Given the description of an element on the screen output the (x, y) to click on. 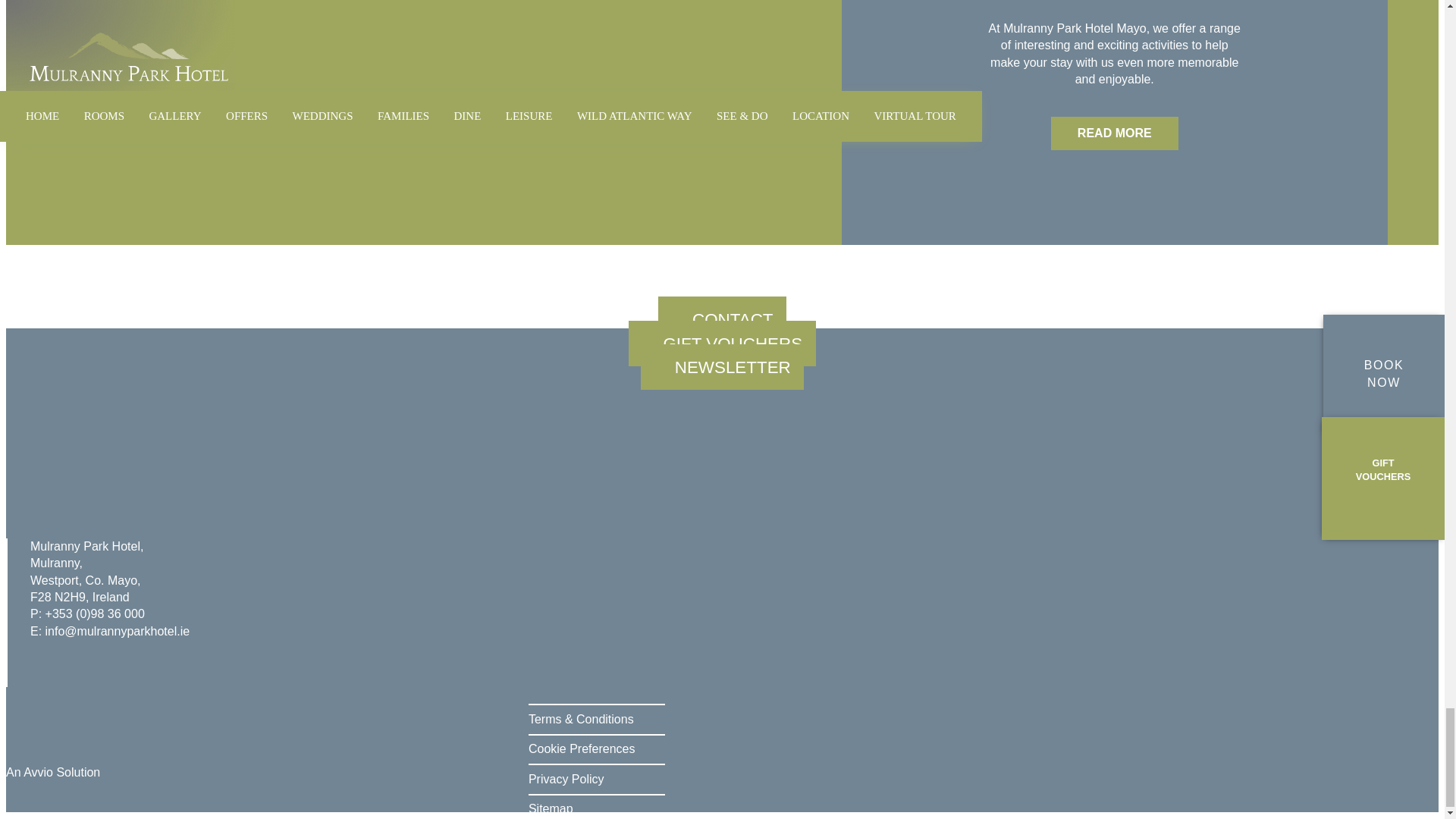
Contact Us by phone (94, 613)
The Mulranny Park Hotel (169, 492)
Contact Avvio (52, 771)
Contact Us by email (117, 631)
